Given the description of an element on the screen output the (x, y) to click on. 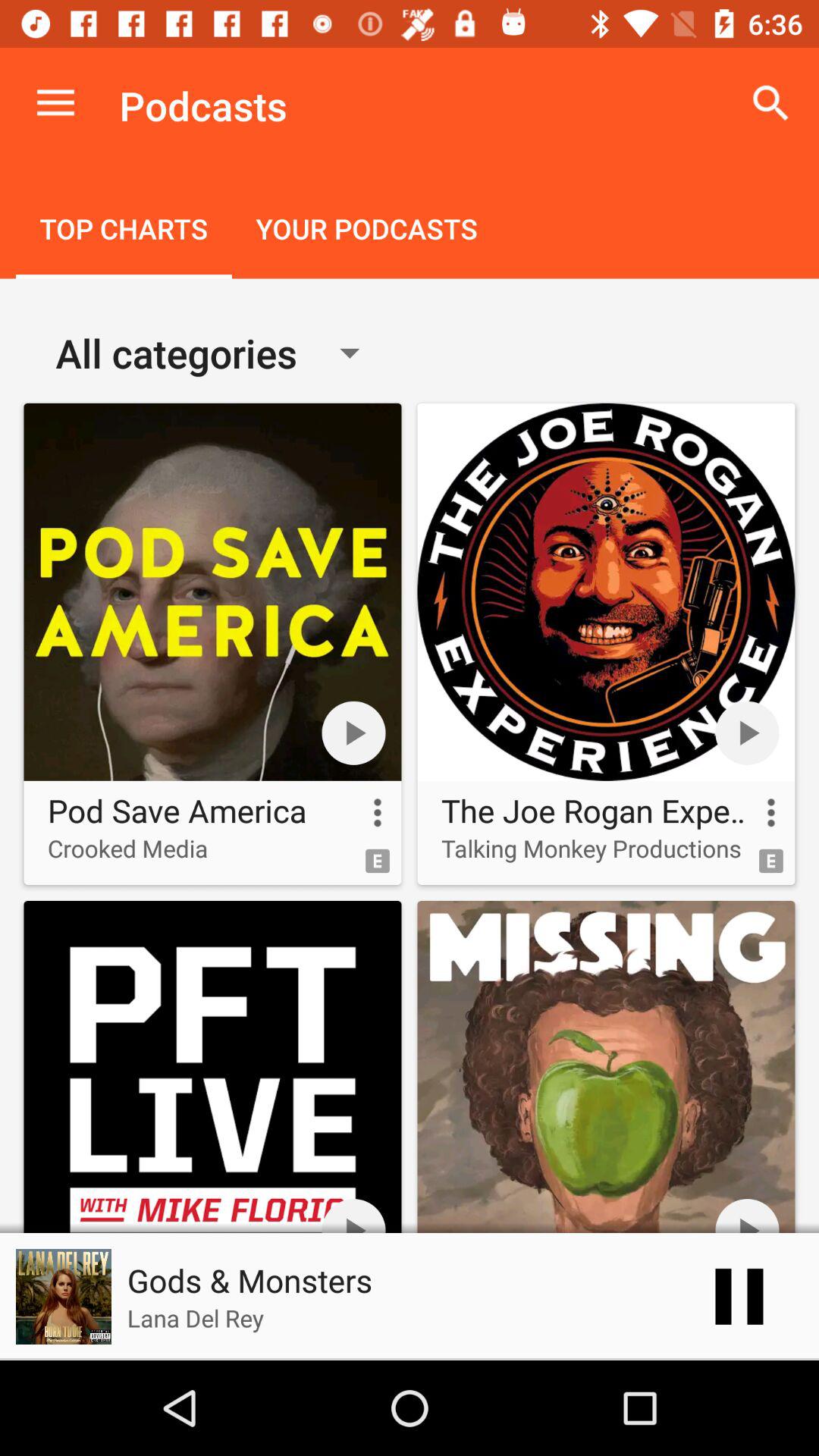
choose item at the top right corner (771, 103)
